Given the description of an element on the screen output the (x, y) to click on. 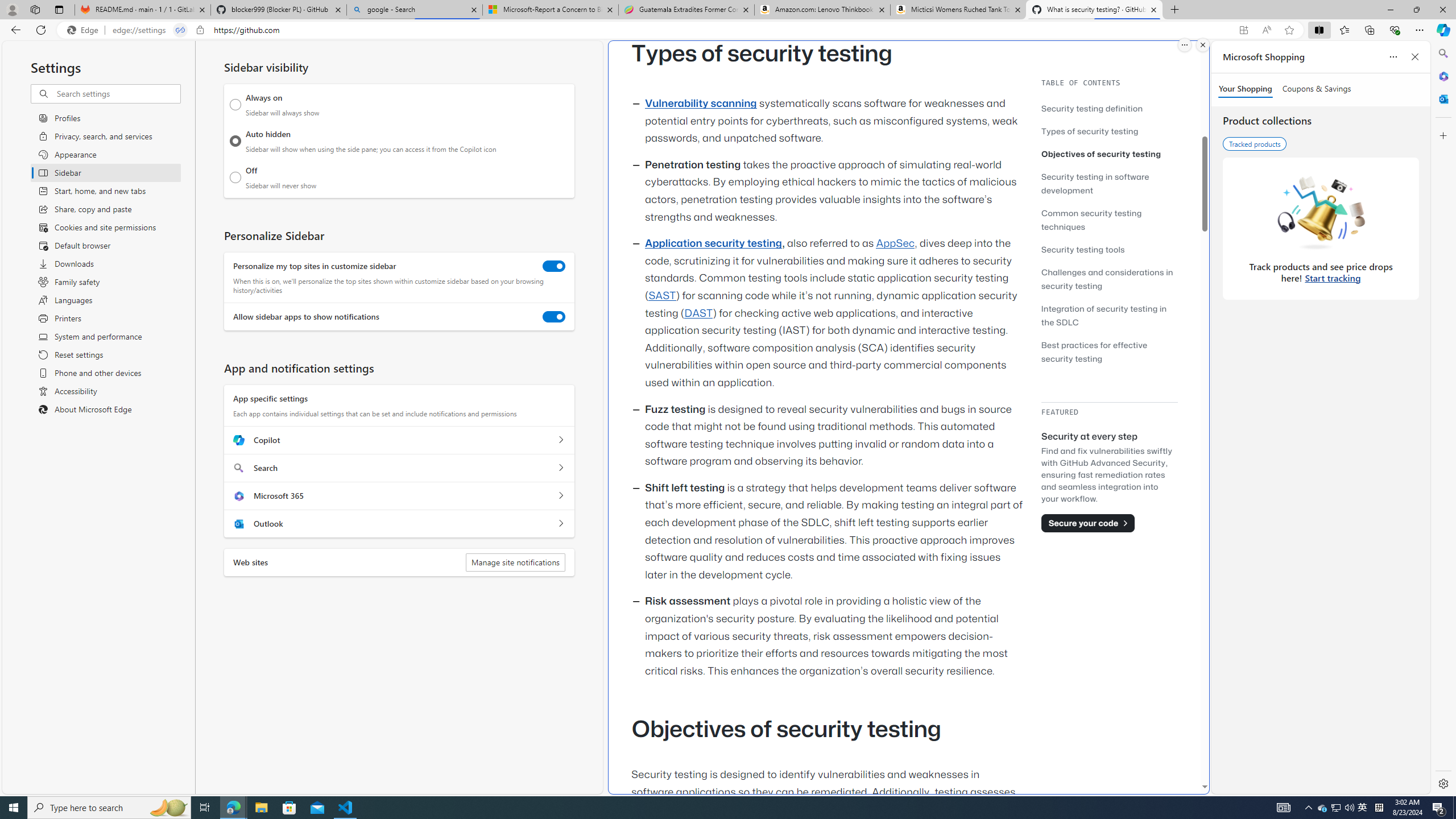
Objectives of security testing (1109, 153)
Copilot (560, 439)
google - Search (414, 9)
Allow sidebar apps to show notifications (553, 316)
Common security testing techniques (1091, 219)
Search settings (117, 93)
Close split screen. (1202, 45)
Challenges and considerations in security testing (1107, 278)
